Given the description of an element on the screen output the (x, y) to click on. 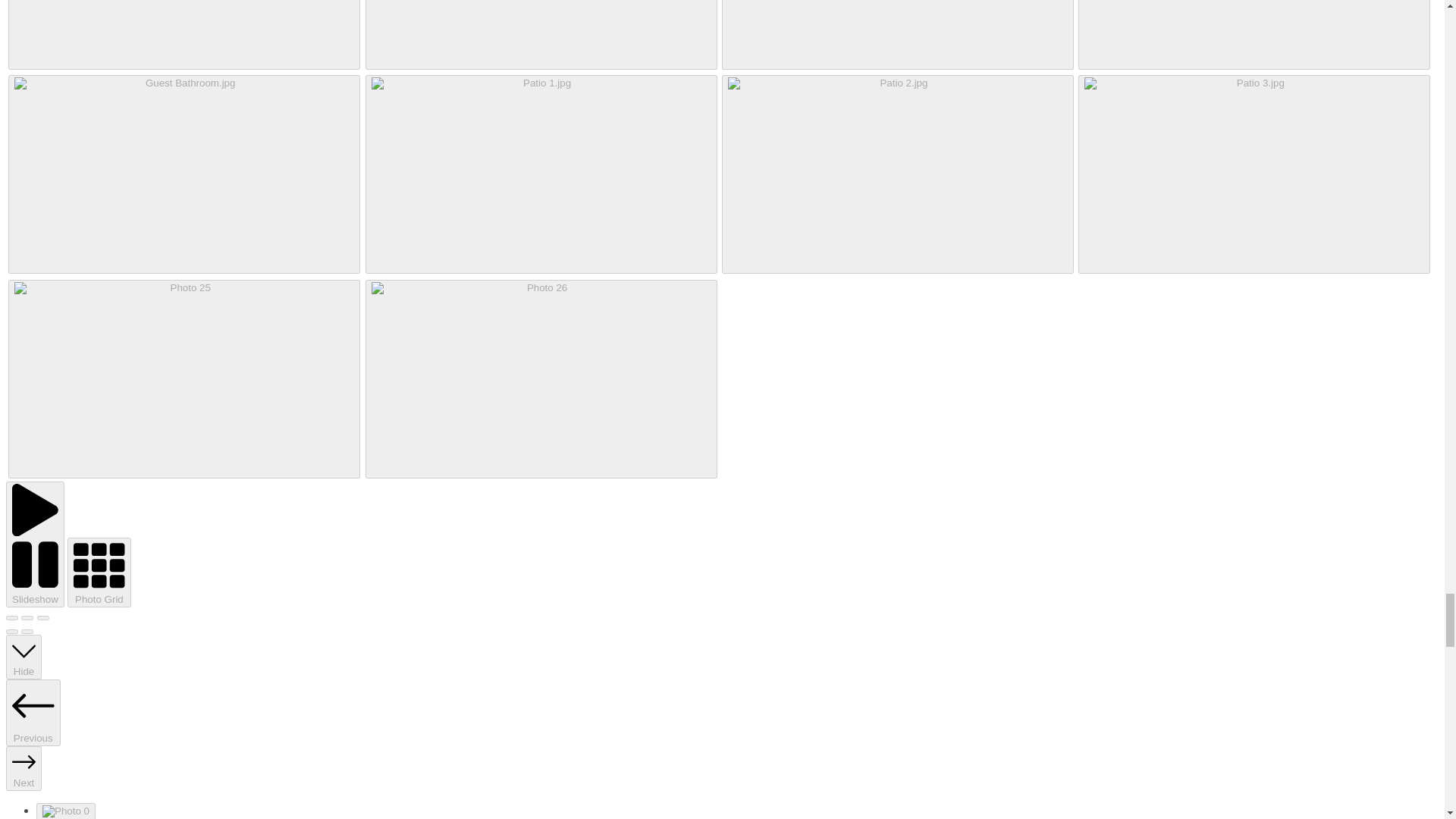
Photo Grid (98, 571)
Photo Grid (98, 571)
Slideshow (34, 544)
Toggle fullscreen (27, 617)
Play Slideshow (34, 544)
